Given the description of an element on the screen output the (x, y) to click on. 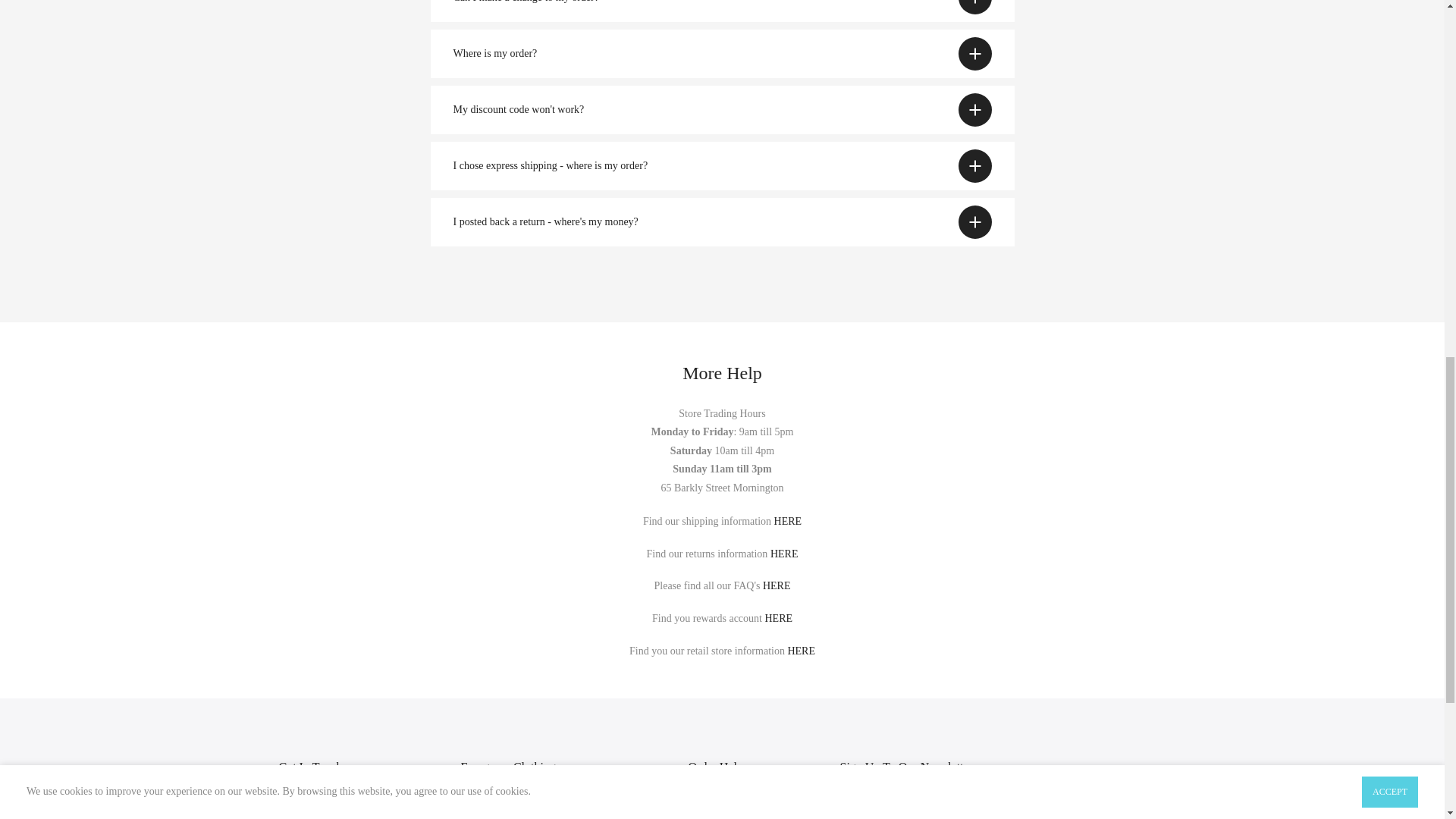
FAQ's (776, 585)
Evergreen Rewards (778, 618)
About Evergreen (801, 650)
